Given the description of an element on the screen output the (x, y) to click on. 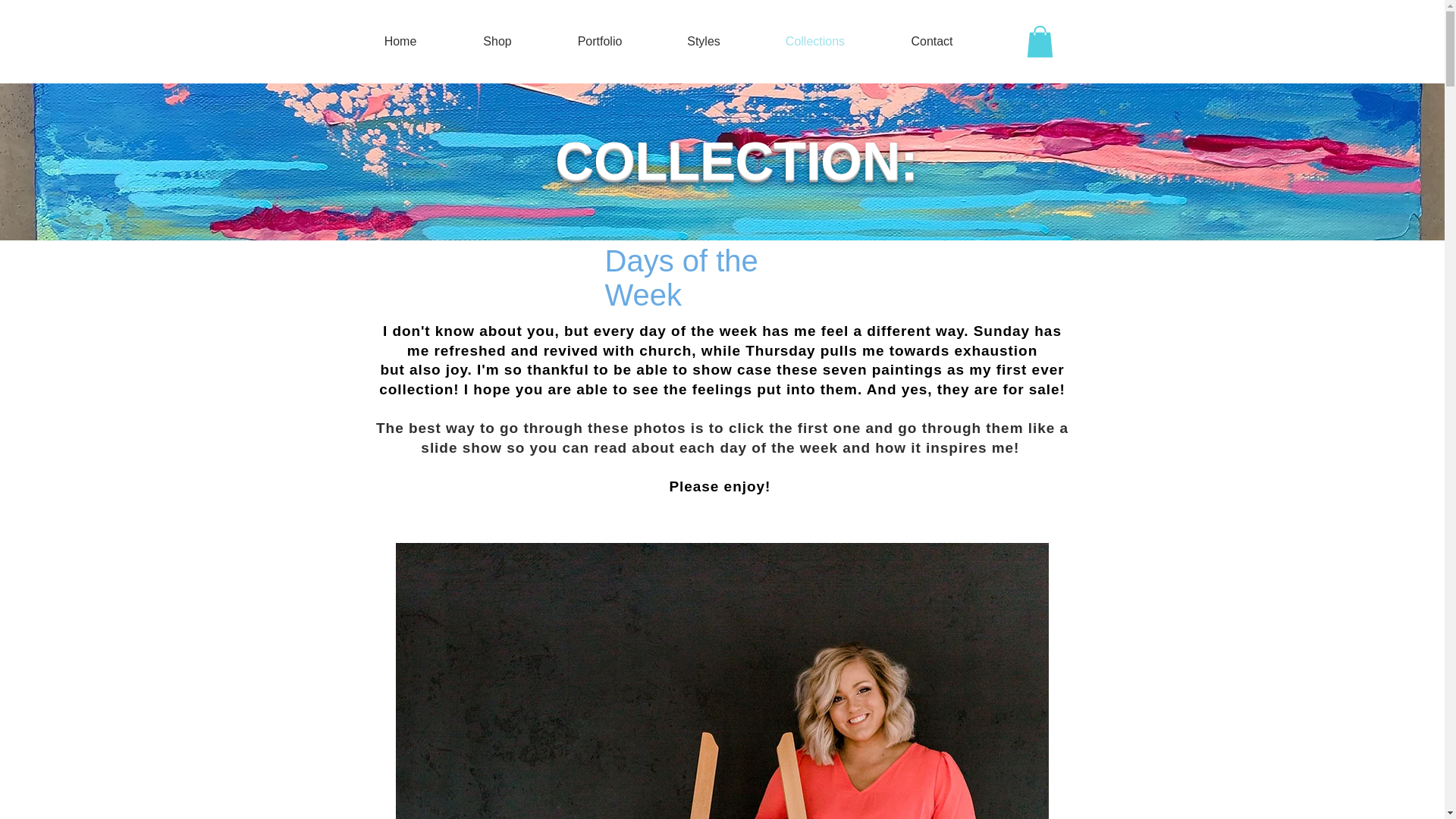
Home (399, 41)
Shop (496, 41)
Collections (814, 41)
Contact (932, 41)
Styles (703, 41)
Portfolio (598, 41)
